Given the description of an element on the screen output the (x, y) to click on. 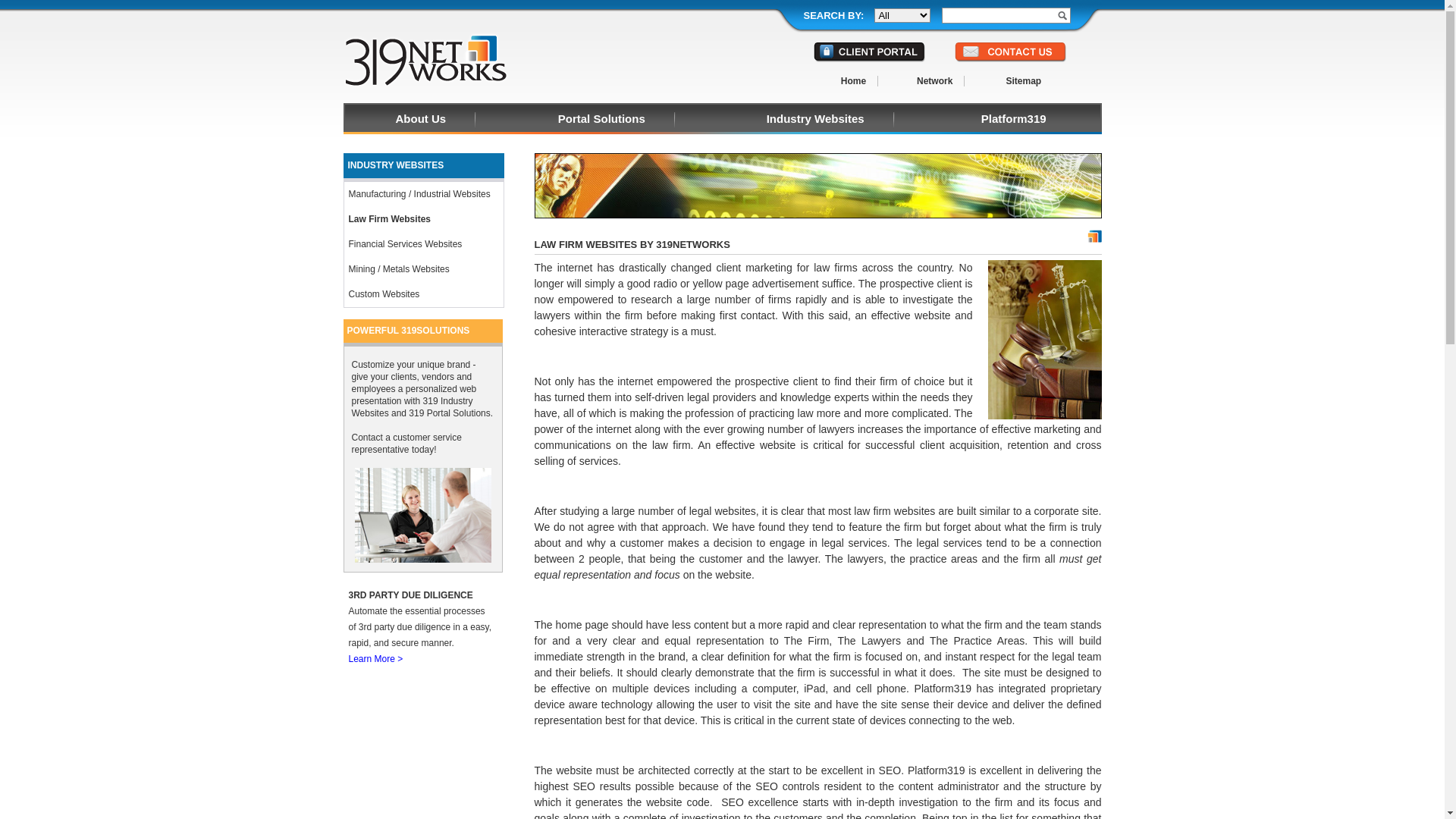
Financial Services Websites Element type: text (422, 244)
Platform319 Element type: text (1013, 122)
Law Firm Websites Element type: text (422, 219)
Manufacturing / Industrial Websites Element type: text (422, 194)
Industry Websites Element type: text (815, 122)
Portal Solutions Element type: text (601, 122)
About Us Element type: text (420, 122)
Custom Websites Element type: text (422, 294)
3RD PARTY DUE DILIGENCE Element type: text (410, 594)
Contact a customer service representative today! Element type: text (406, 443)
Network Element type: text (934, 80)
Sitemap Element type: text (1023, 80)
Learn More > Element type: text (375, 658)
INDUSTRY WEBSITES Element type: text (422, 167)
Home Element type: text (853, 80)
Mining / Metals Websites Element type: text (422, 269)
